Given the description of an element on the screen output the (x, y) to click on. 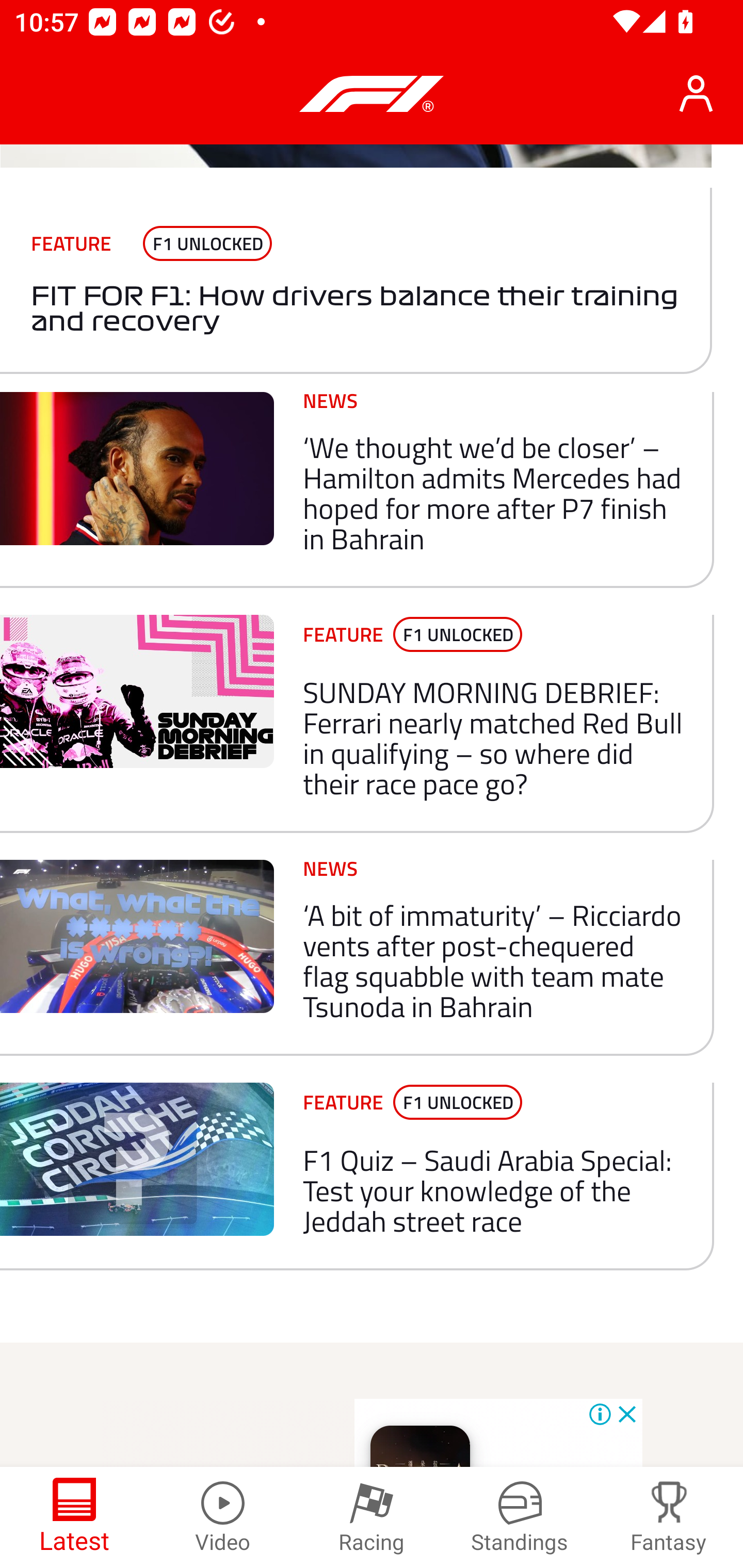
Video (222, 1517)
Racing (371, 1517)
Standings (519, 1517)
Fantasy (668, 1517)
